Given the description of an element on the screen output the (x, y) to click on. 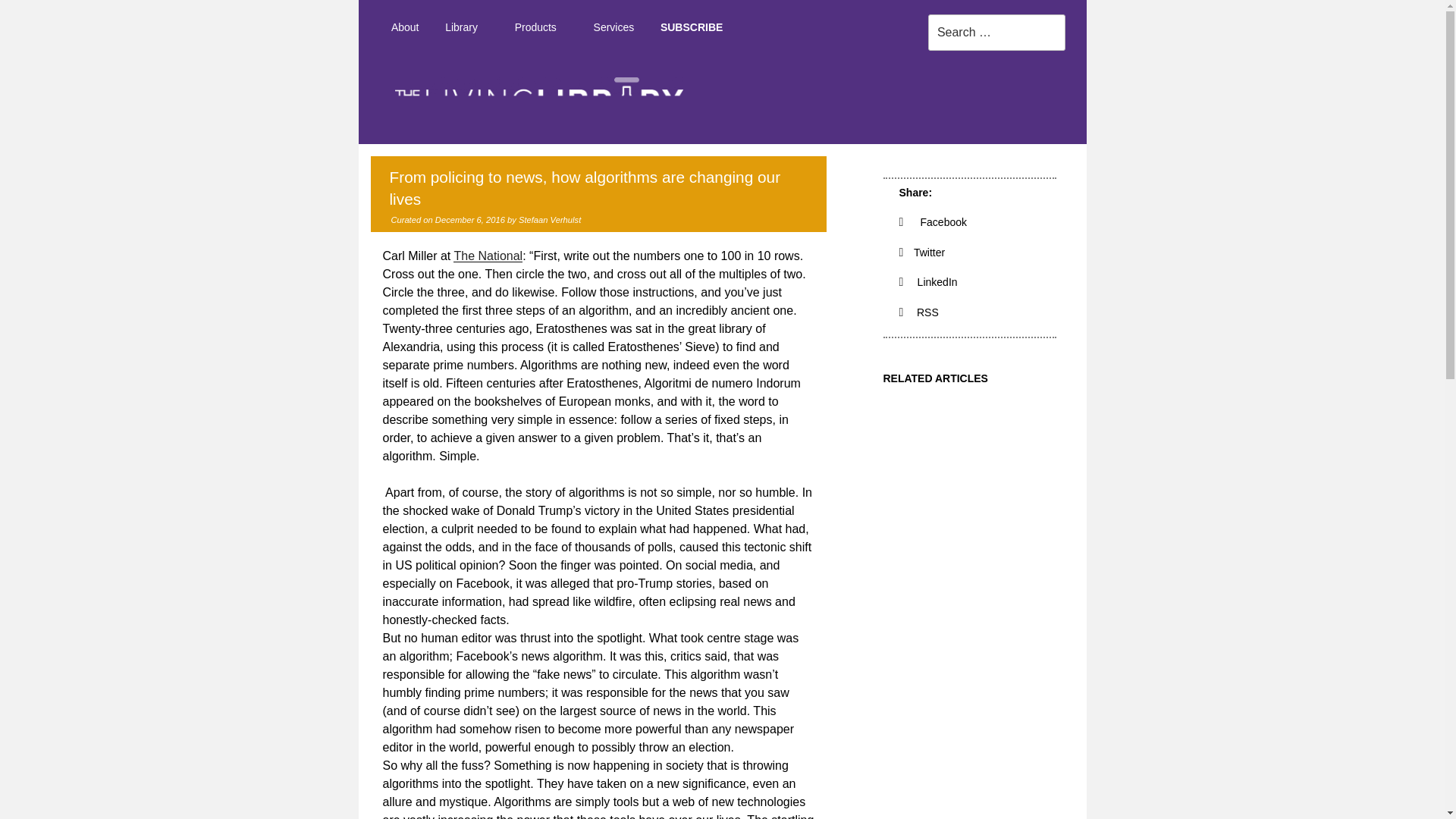
Products (540, 27)
SUBSCRIBE (692, 27)
  Facebook (933, 222)
About (403, 27)
RSS (919, 312)
Library (466, 27)
THE LIVING LIBRARY (1117, 158)
Twitter (921, 252)
LinkedIn (928, 282)
Stefaan Verhulst (549, 219)
